Given the description of an element on the screen output the (x, y) to click on. 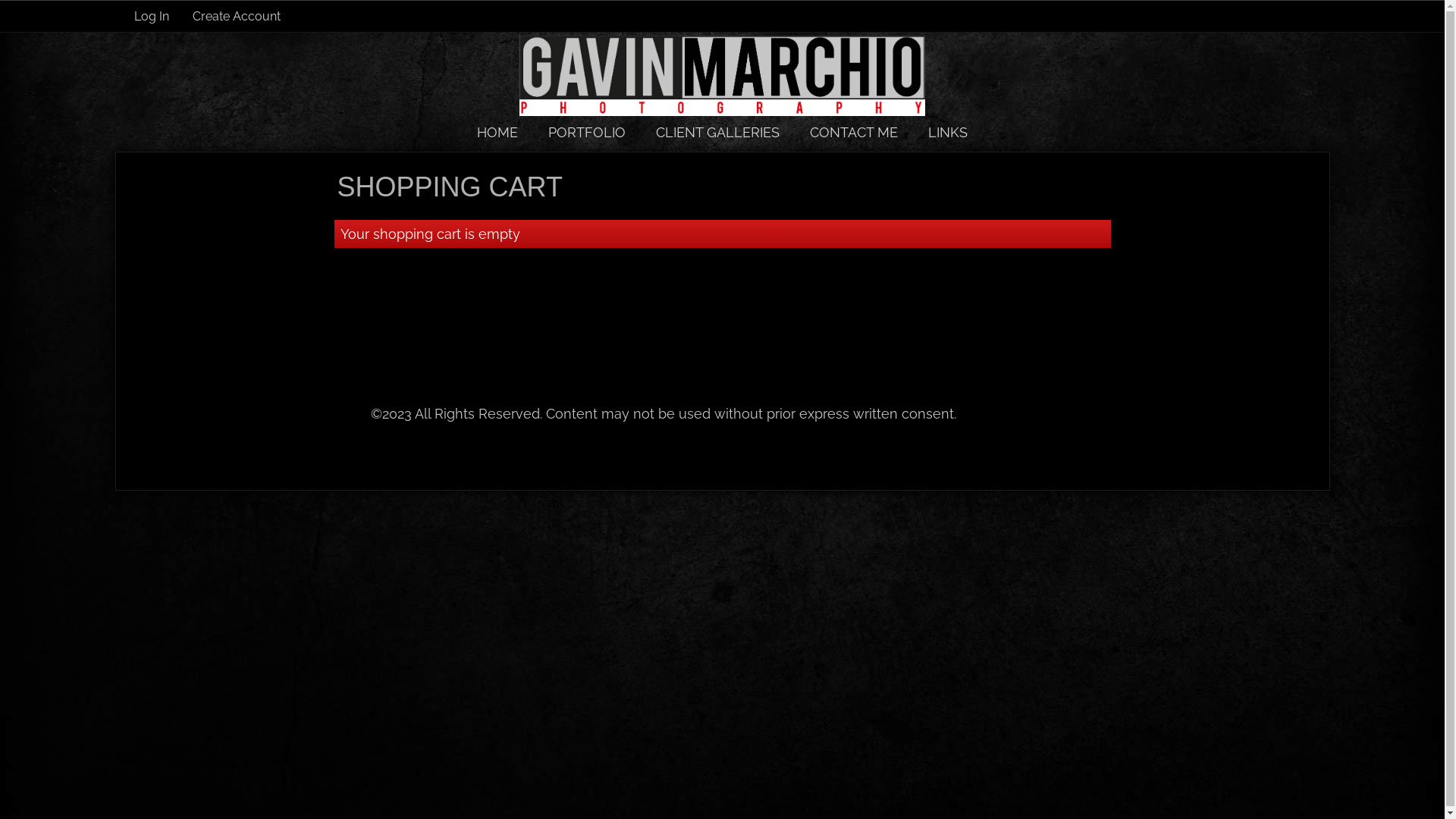
PORTFOLIO Element type: text (586, 131)
LINKS Element type: text (947, 131)
Create Account Element type: text (236, 16)
HOME Element type: text (497, 131)
CLIENT GALLERIES Element type: text (717, 131)
CONTACT ME Element type: text (853, 131)
Log In Element type: text (150, 16)
